Given the description of an element on the screen output the (x, y) to click on. 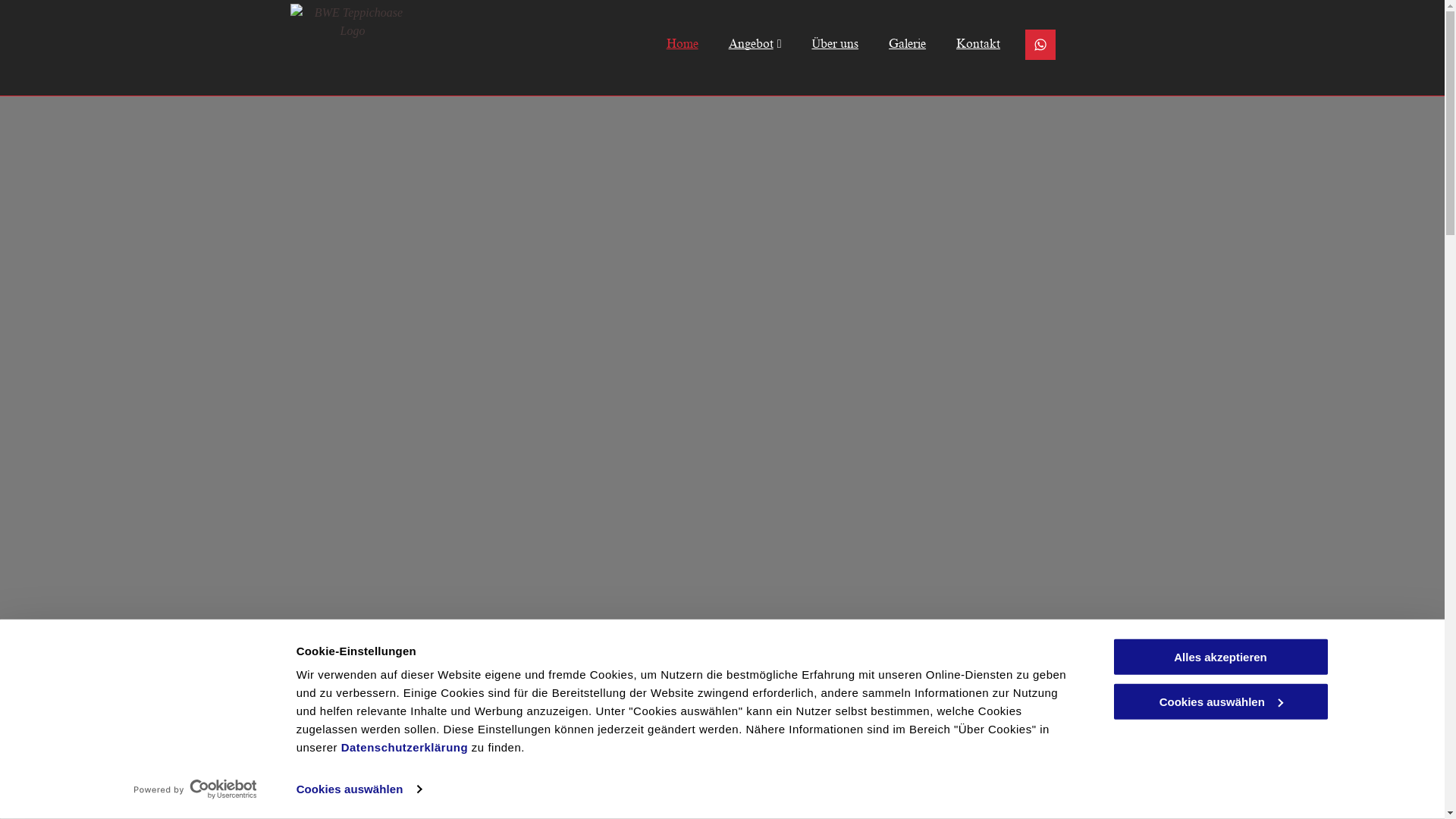
Home Element type: text (667, 43)
Galerie Element type: text (891, 43)
Kontakt Element type: text (962, 43)
Alles akzeptieren Element type: text (1219, 656)
Angebot Element type: text (739, 43)
